Given the description of an element on the screen output the (x, y) to click on. 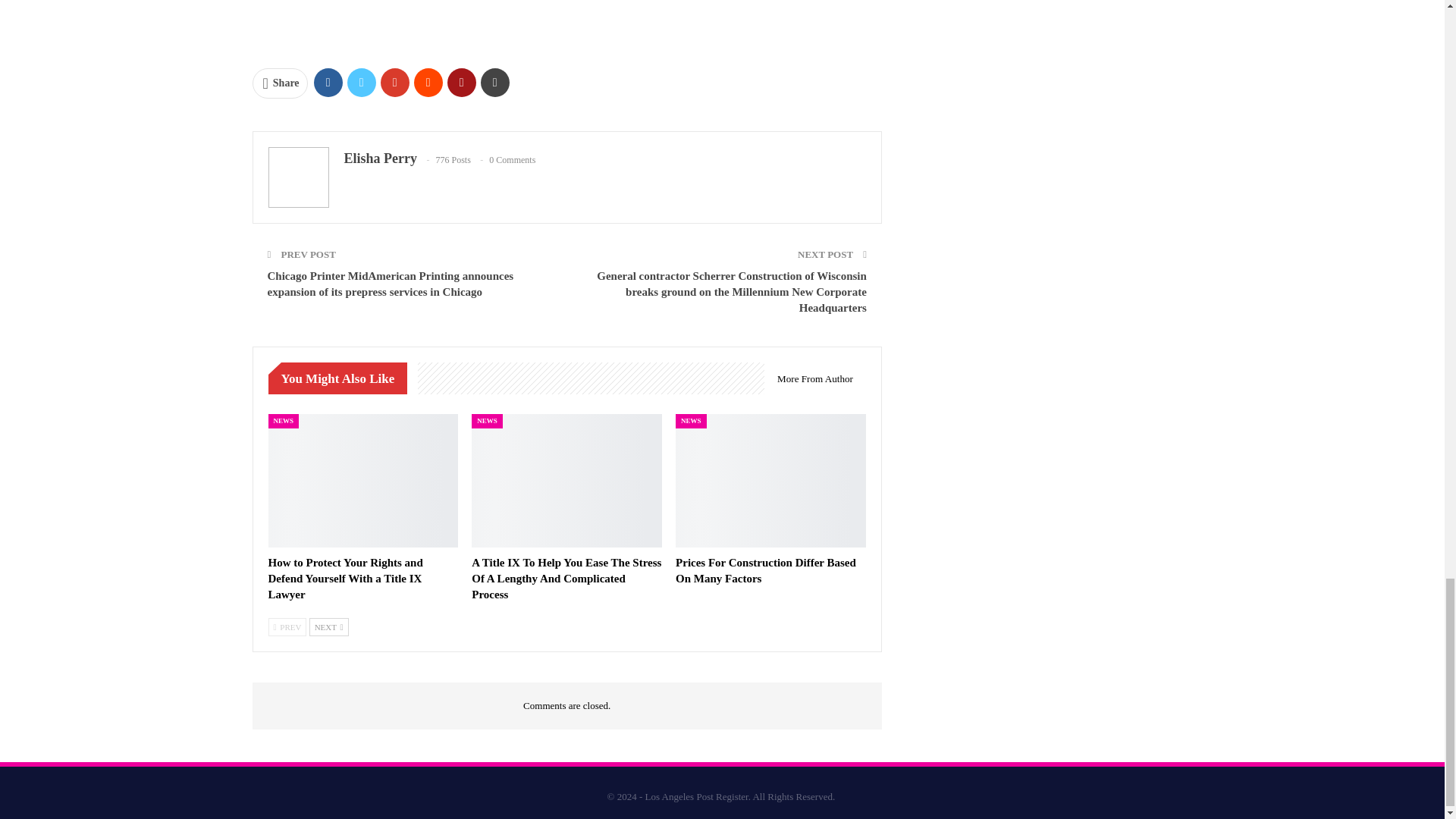
Prices For Construction Differ Based On Many Factors (770, 480)
Prices For Construction Differ Based On Many Factors (765, 570)
